Given the description of an element on the screen output the (x, y) to click on. 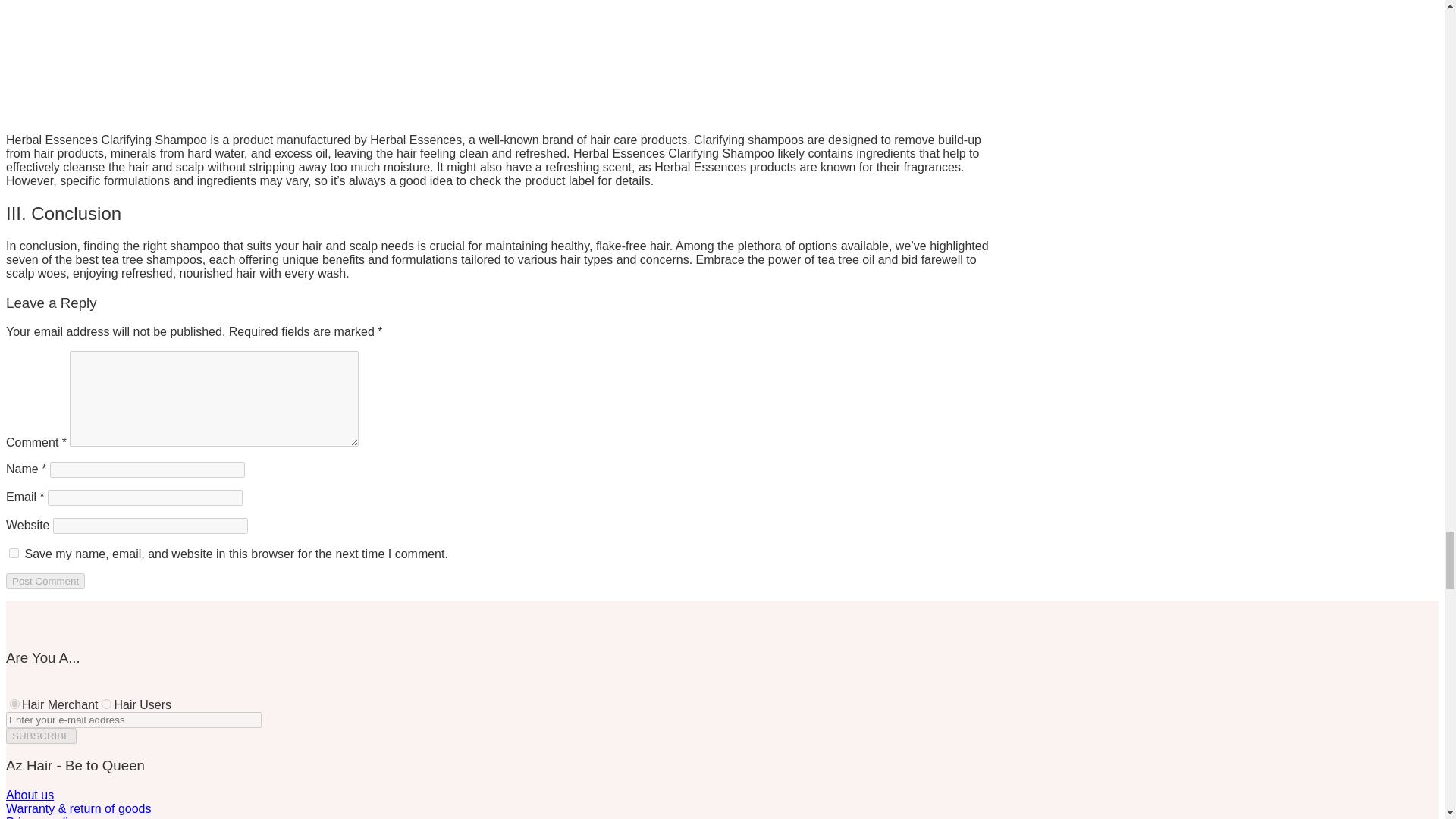
yes (13, 552)
SUBSCRIBE (41, 735)
Post Comment (44, 580)
Hair Users (106, 704)
Hair Merchant (15, 704)
